Given the description of an element on the screen output the (x, y) to click on. 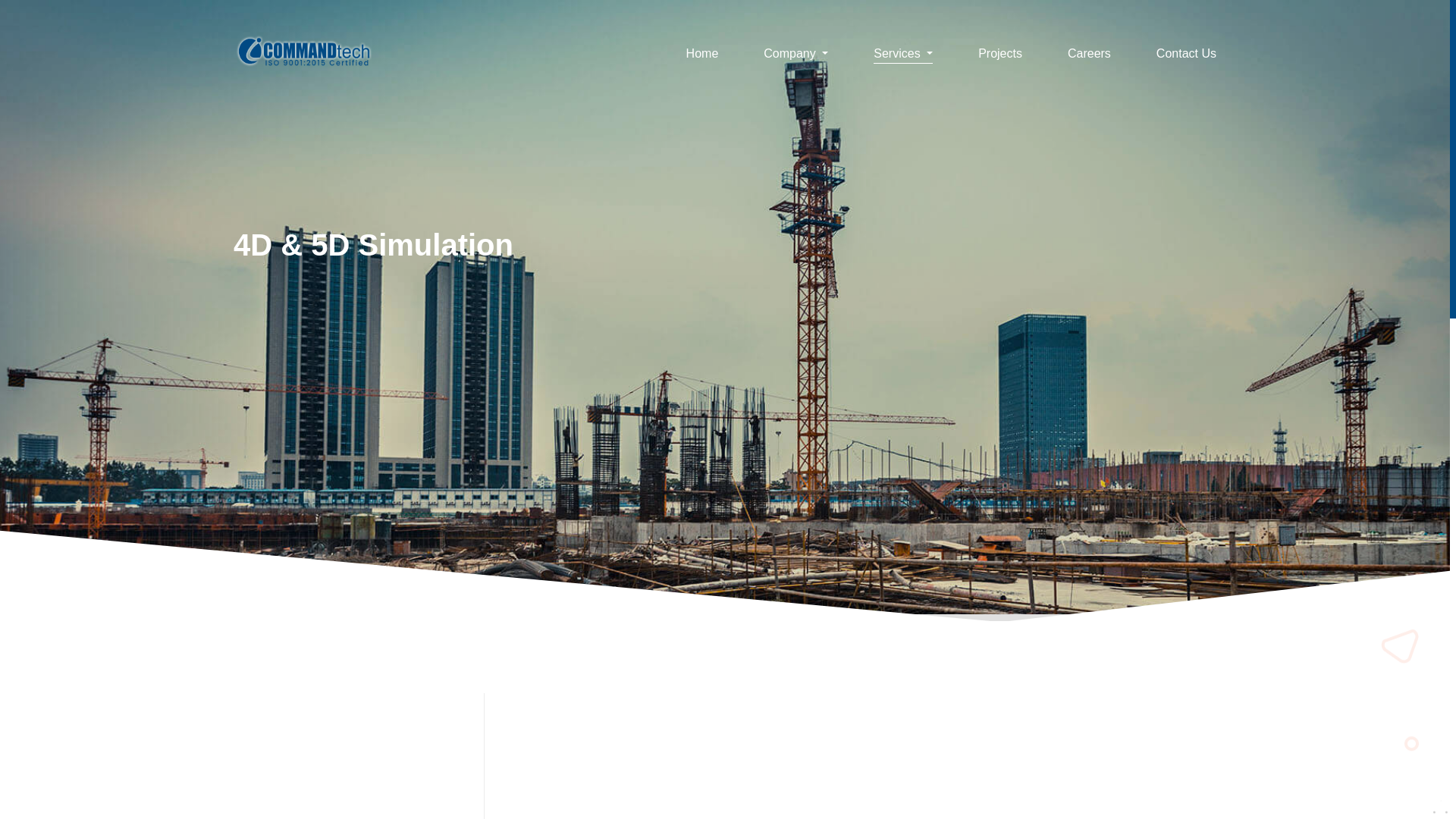
Projects (1000, 56)
Contact Us (1185, 56)
Careers (1088, 56)
Home (702, 56)
Services (903, 56)
Company (795, 56)
